Given the description of an element on the screen output the (x, y) to click on. 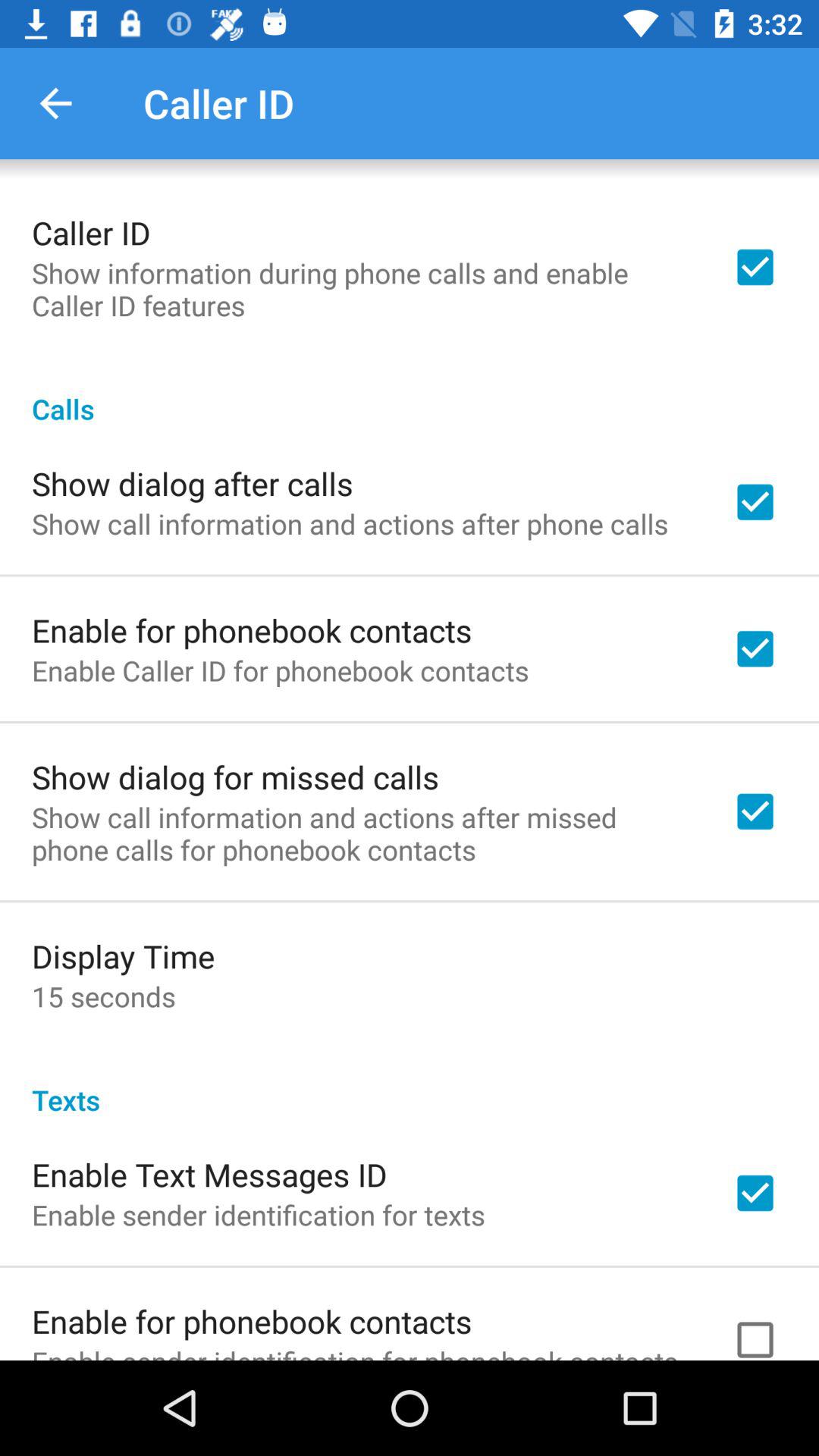
swipe to enable text messages icon (209, 1174)
